Given the description of an element on the screen output the (x, y) to click on. 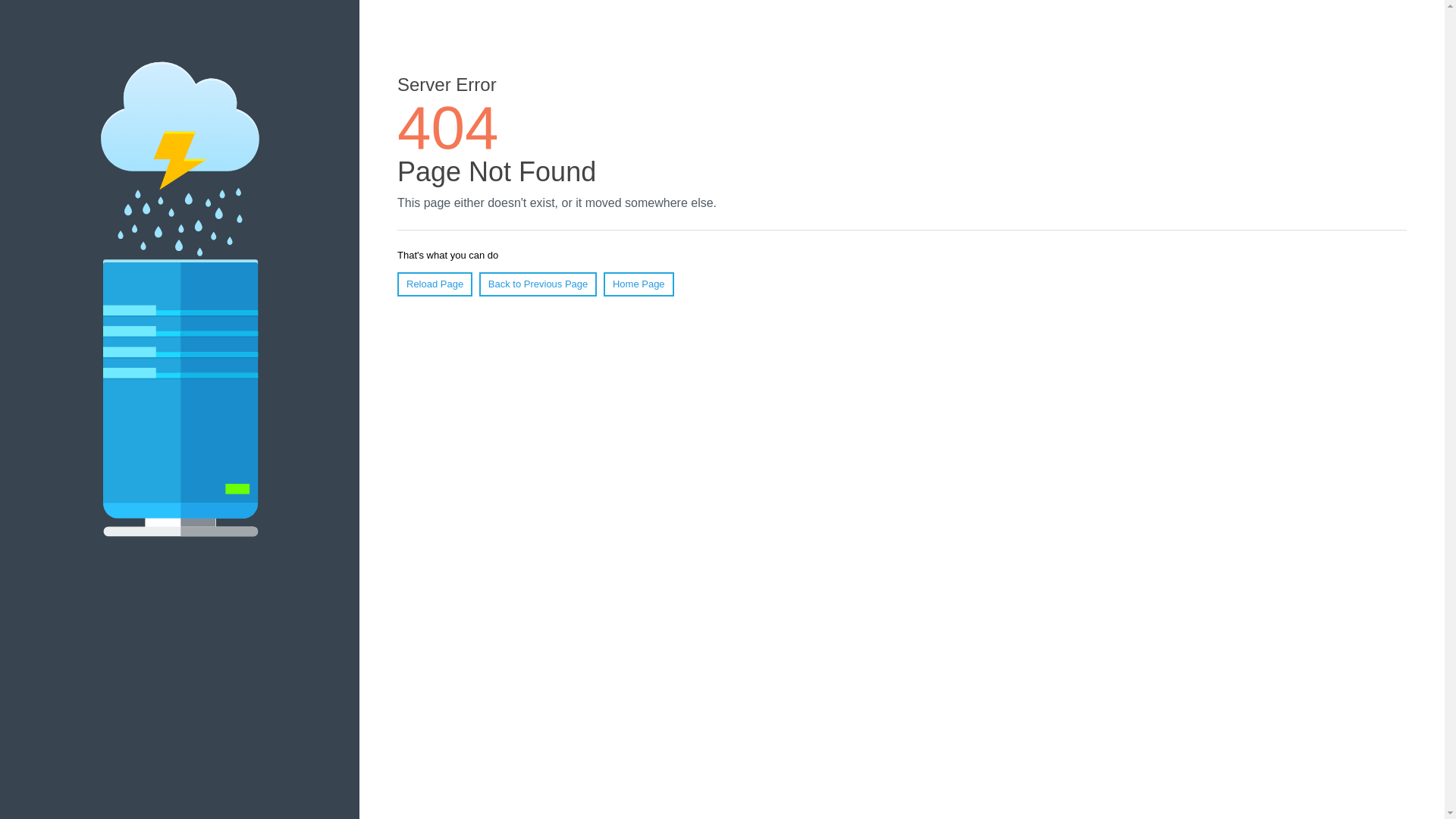
Back to Previous Page (537, 283)
Home Page (639, 283)
Reload Page (434, 283)
